Given the description of an element on the screen output the (x, y) to click on. 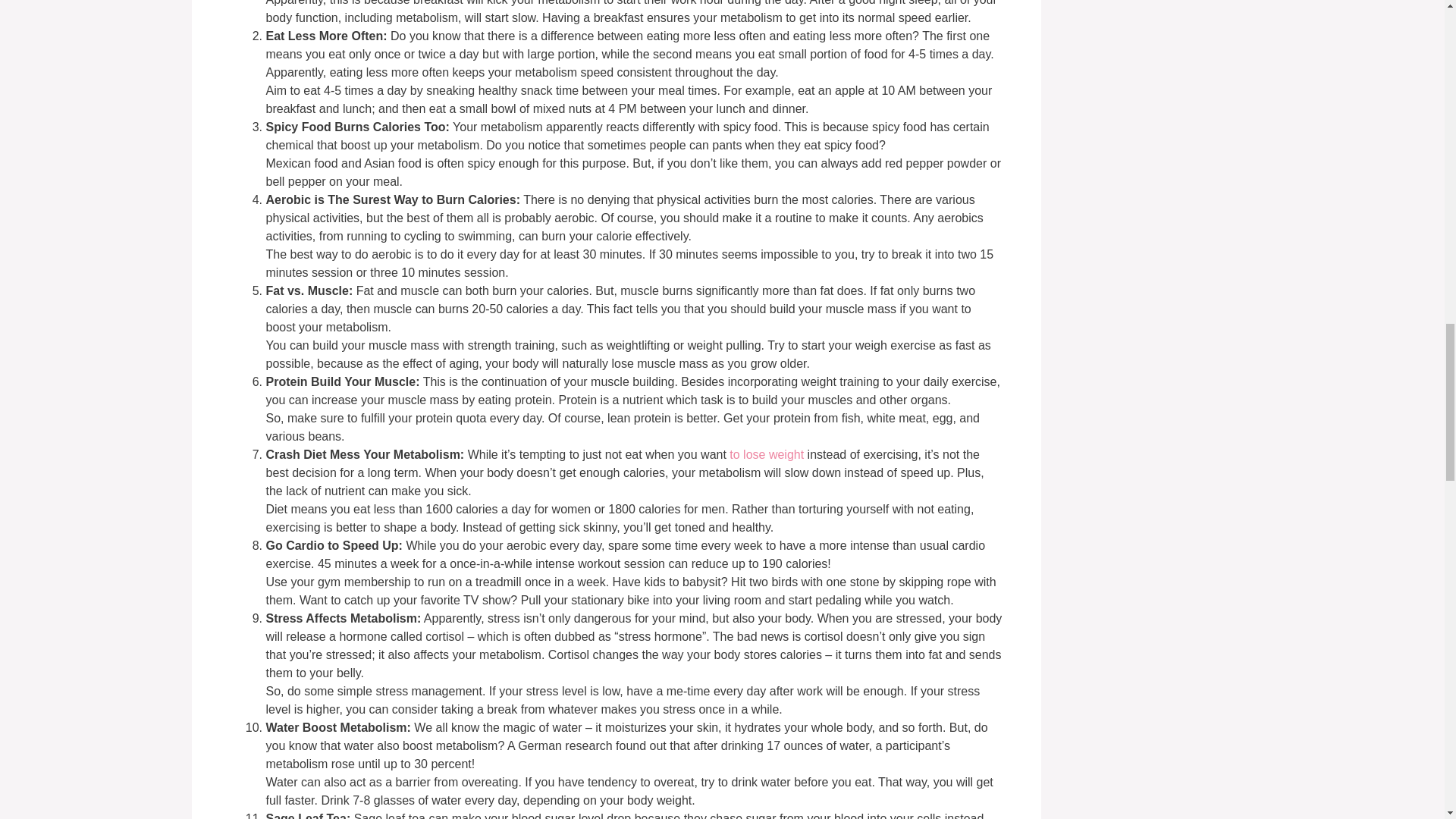
to lose weight (767, 454)
